Given the description of an element on the screen output the (x, y) to click on. 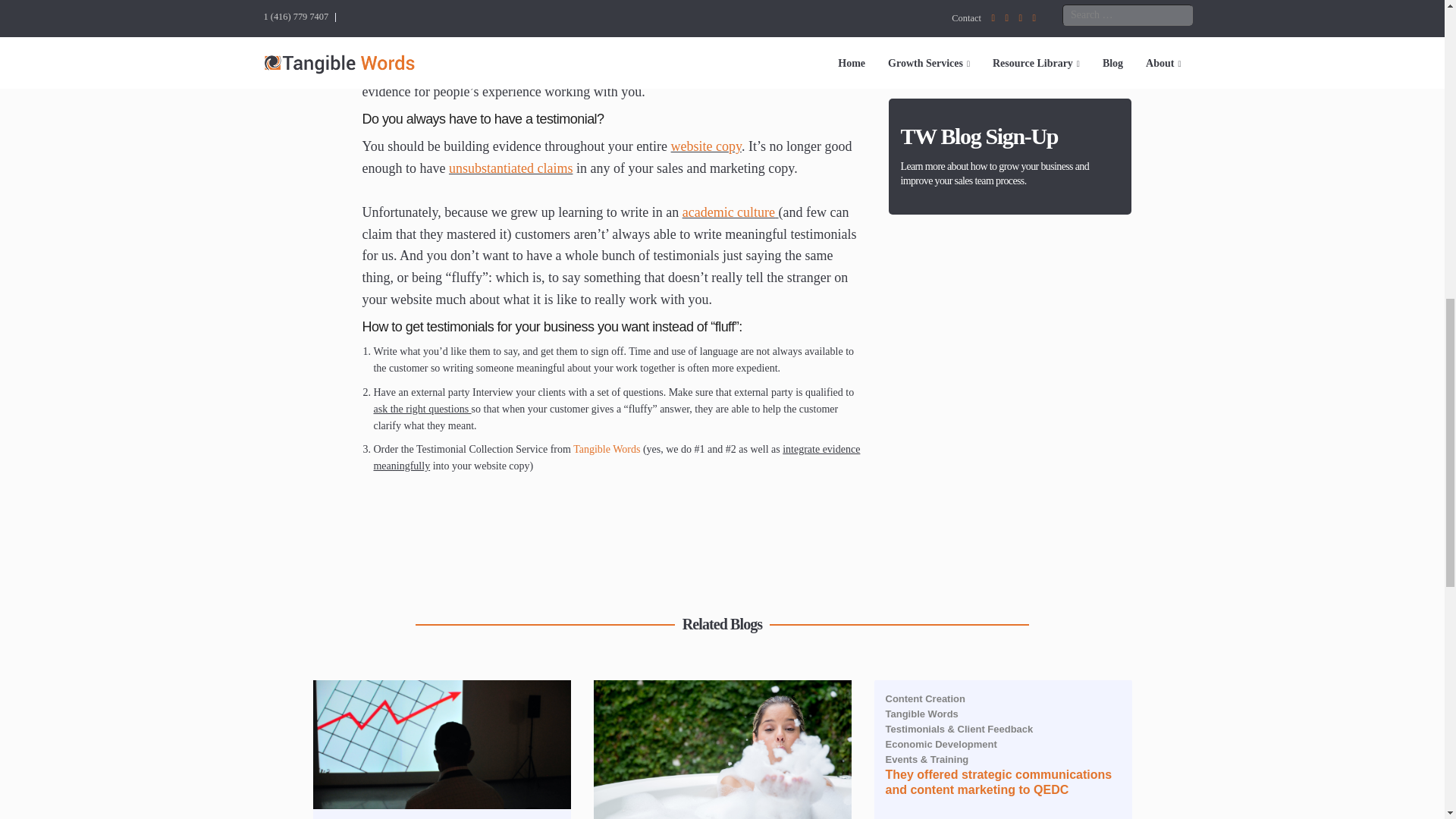
Contact Tangible Words (606, 449)
Academic Writing (728, 212)
Website Copywriting (706, 145)
Beware of Unsubstantiated Claims on Your Business Website  (510, 168)
Tangible Words (606, 449)
website copy (706, 145)
unsubstantiated claims (510, 168)
academic culture (728, 212)
